Given the description of an element on the screen output the (x, y) to click on. 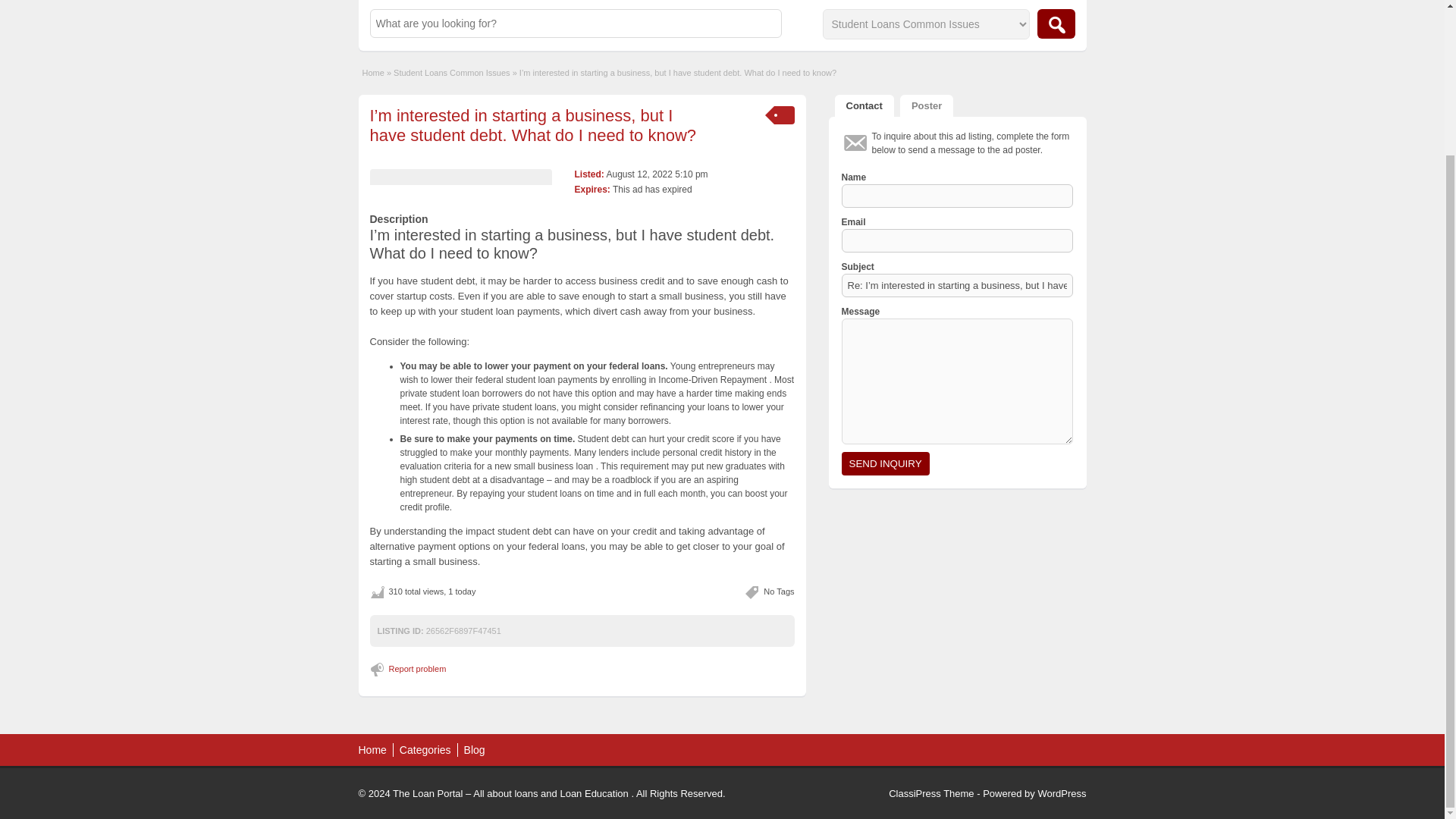
Report problem (409, 668)
search (1055, 23)
Send Inquiry (885, 463)
Home (373, 71)
Student Loans Common Issues (451, 71)
